Given the description of an element on the screen output the (x, y) to click on. 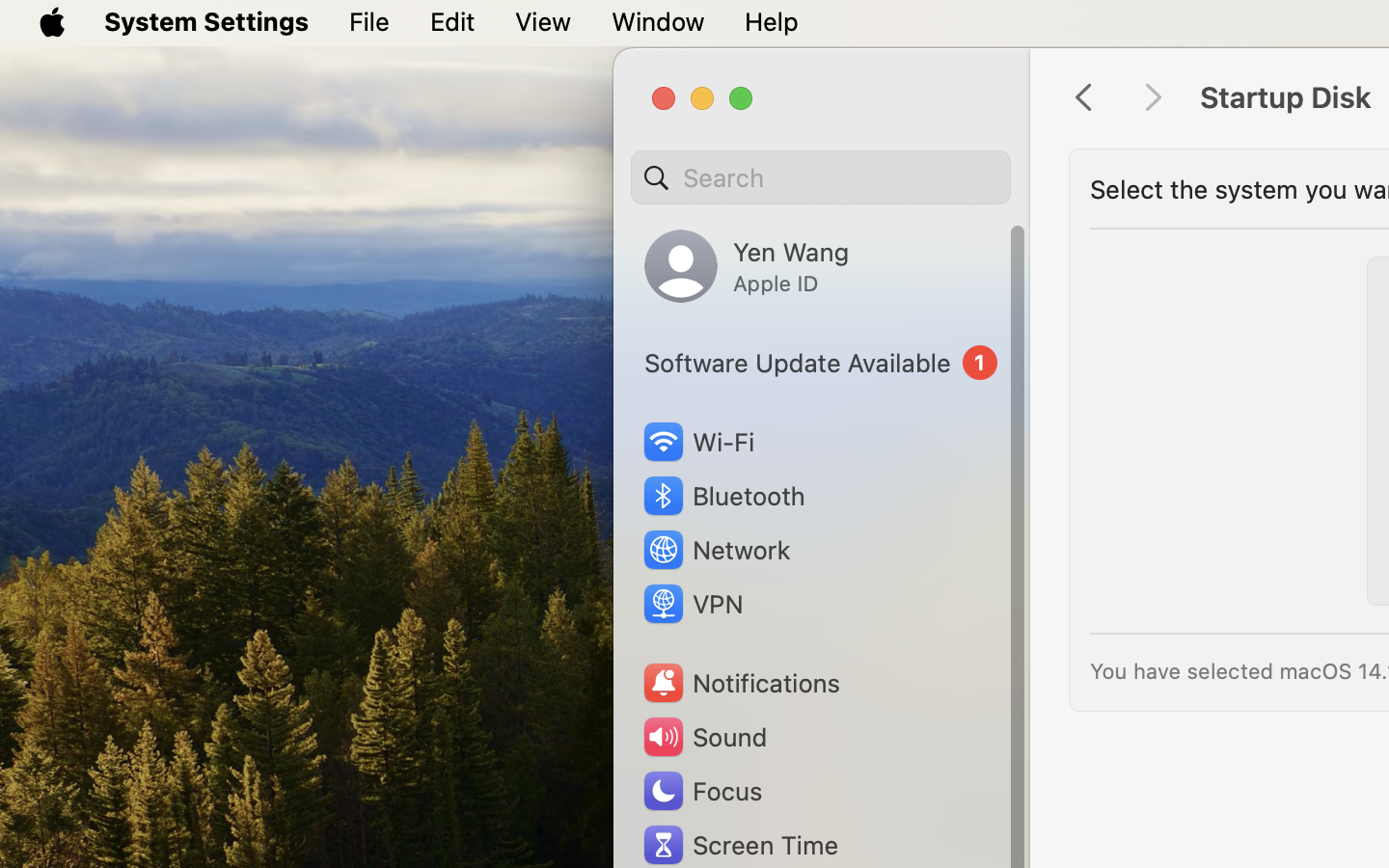
Yen Wang, Apple ID Element type: AXStaticText (746, 265)
Notifications Element type: AXStaticText (740, 682)
Screen Time Element type: AXStaticText (739, 844)
Bluetooth Element type: AXStaticText (723, 495)
VPN Element type: AXStaticText (691, 603)
